Given the description of an element on the screen output the (x, y) to click on. 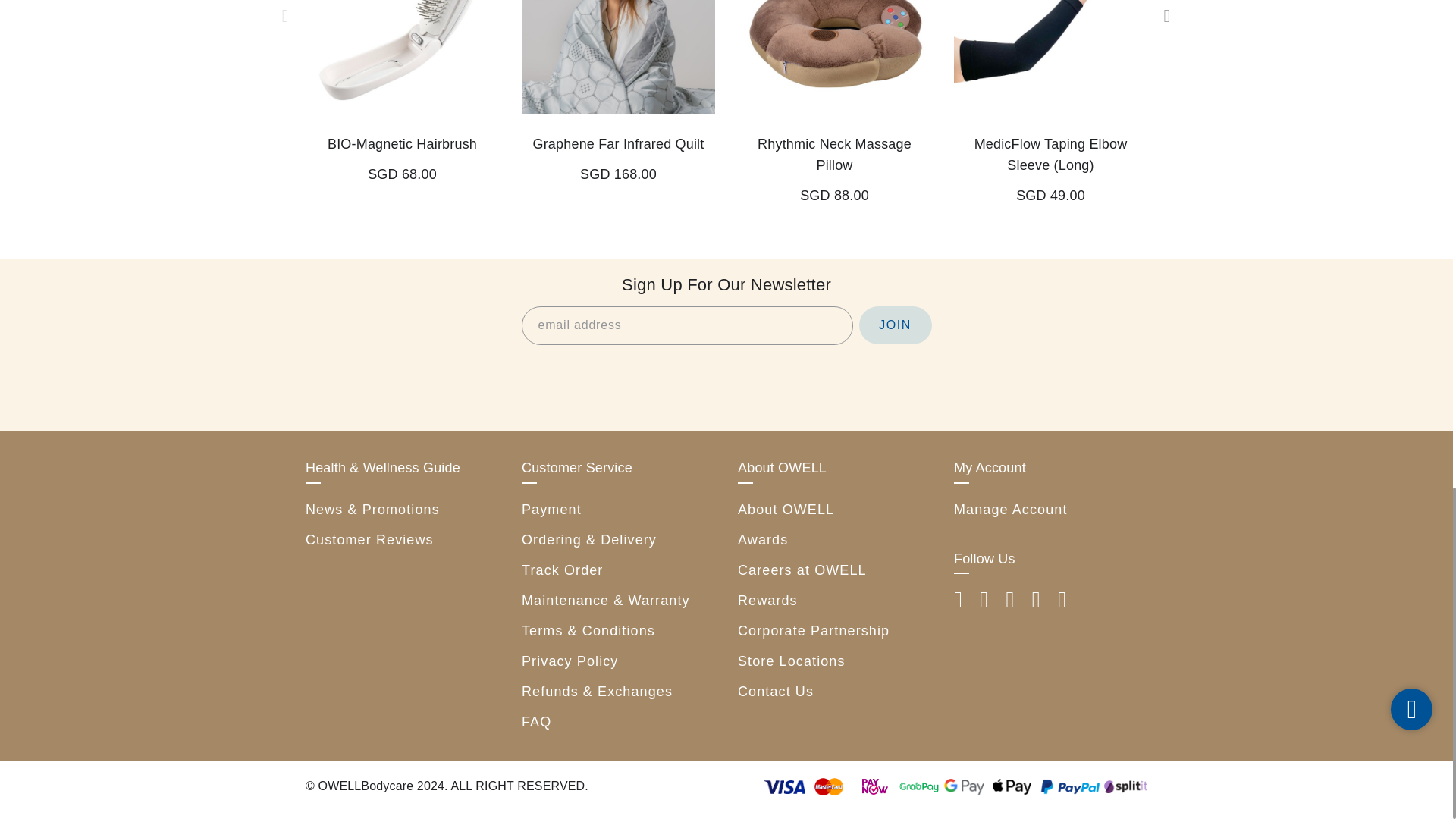
Join (895, 324)
